Given the description of an element on the screen output the (x, y) to click on. 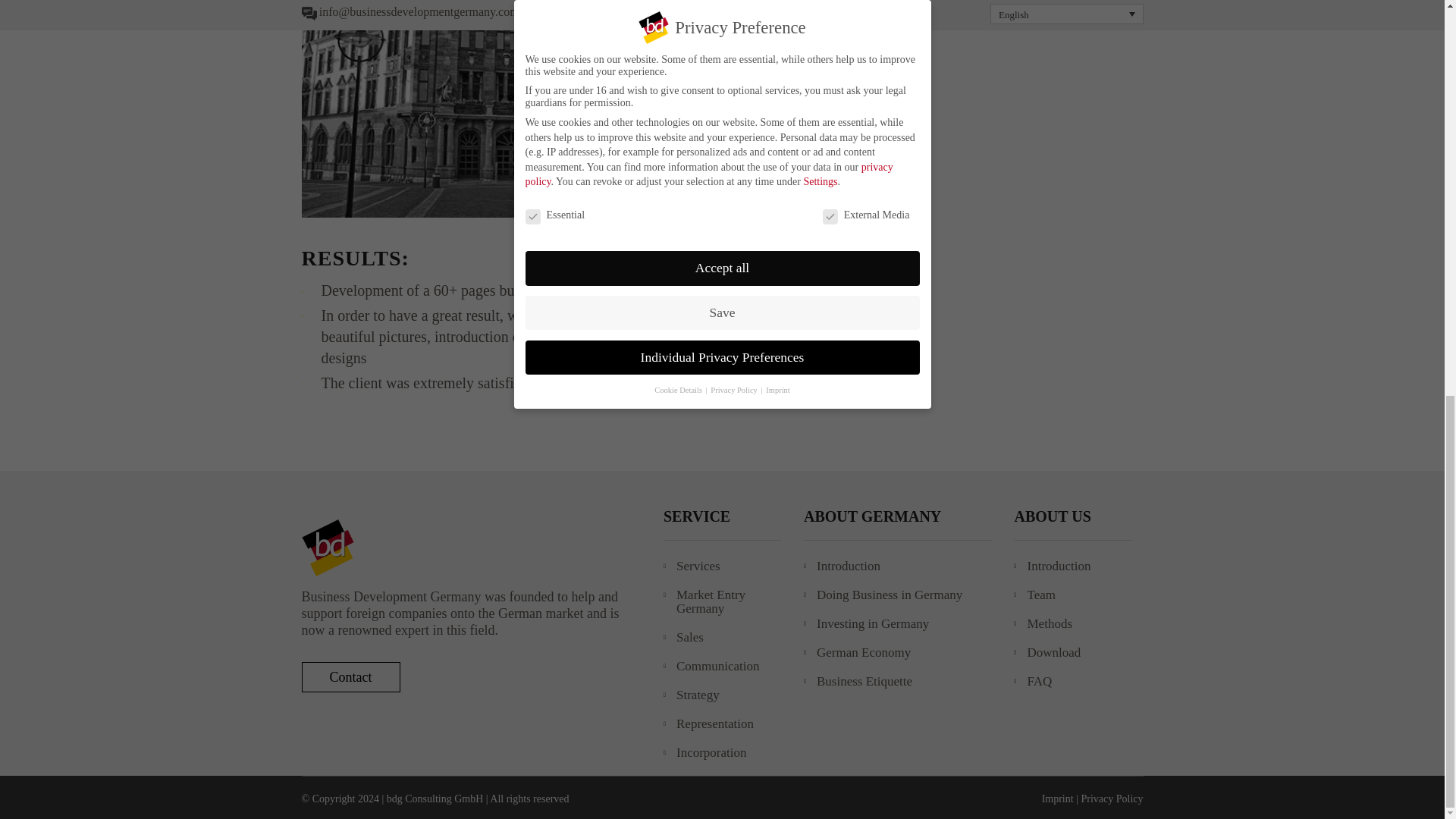
Real-Estate-Company (606, 108)
